Given the description of an element on the screen output the (x, y) to click on. 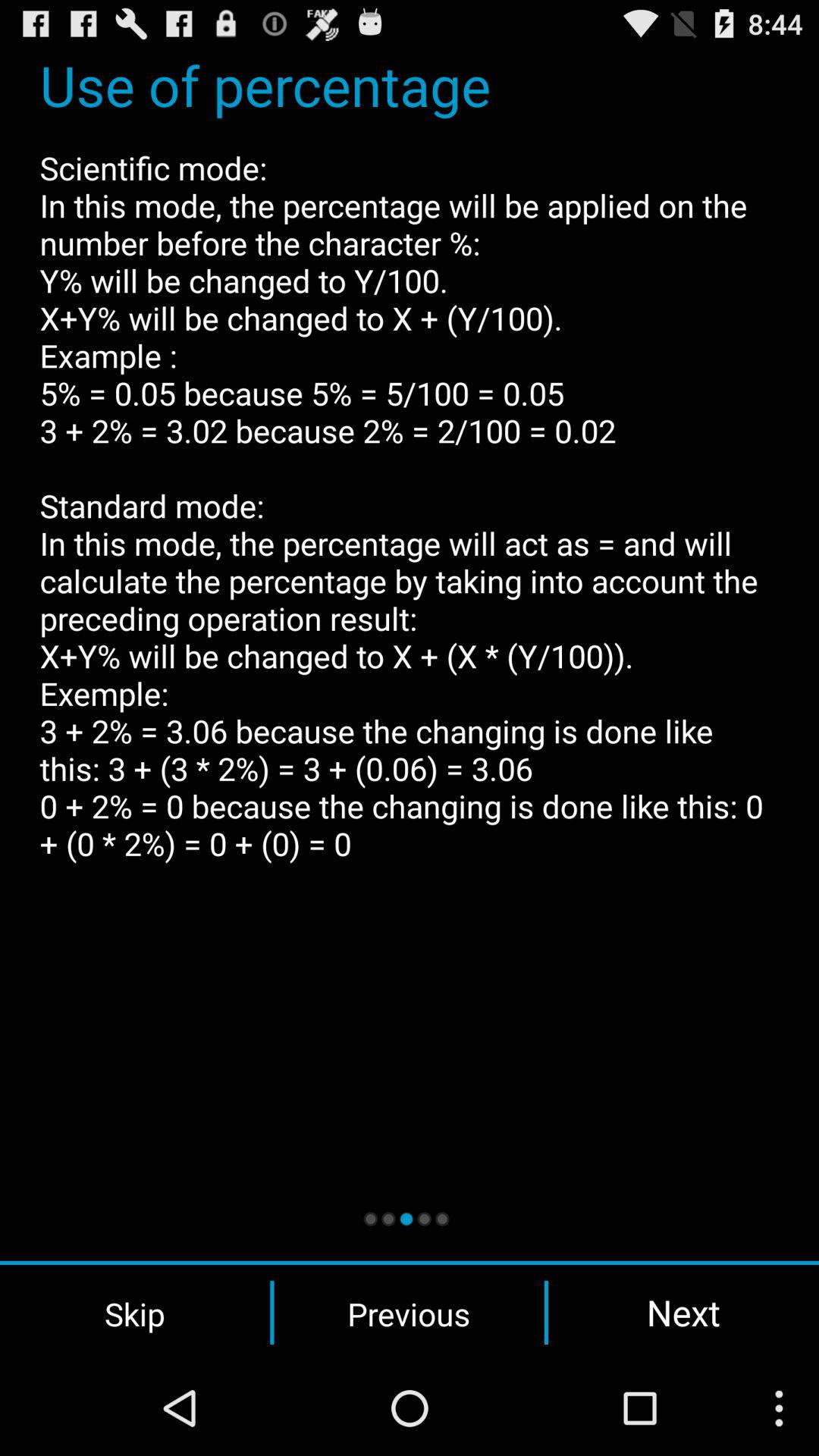
jump to next button (683, 1312)
